Given the description of an element on the screen output the (x, y) to click on. 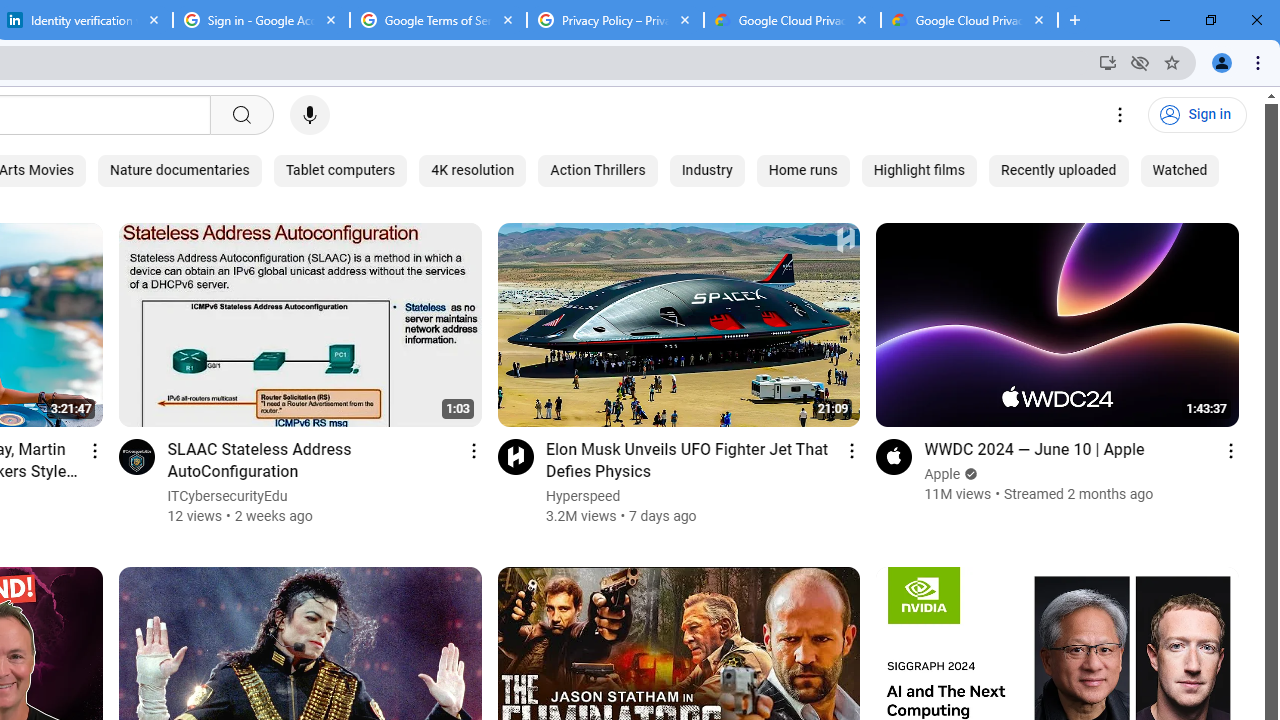
Third-party cookies blocked (1139, 62)
Watched (1179, 170)
Sign in - Google Accounts (260, 20)
Apple (943, 474)
